Given the description of an element on the screen output the (x, y) to click on. 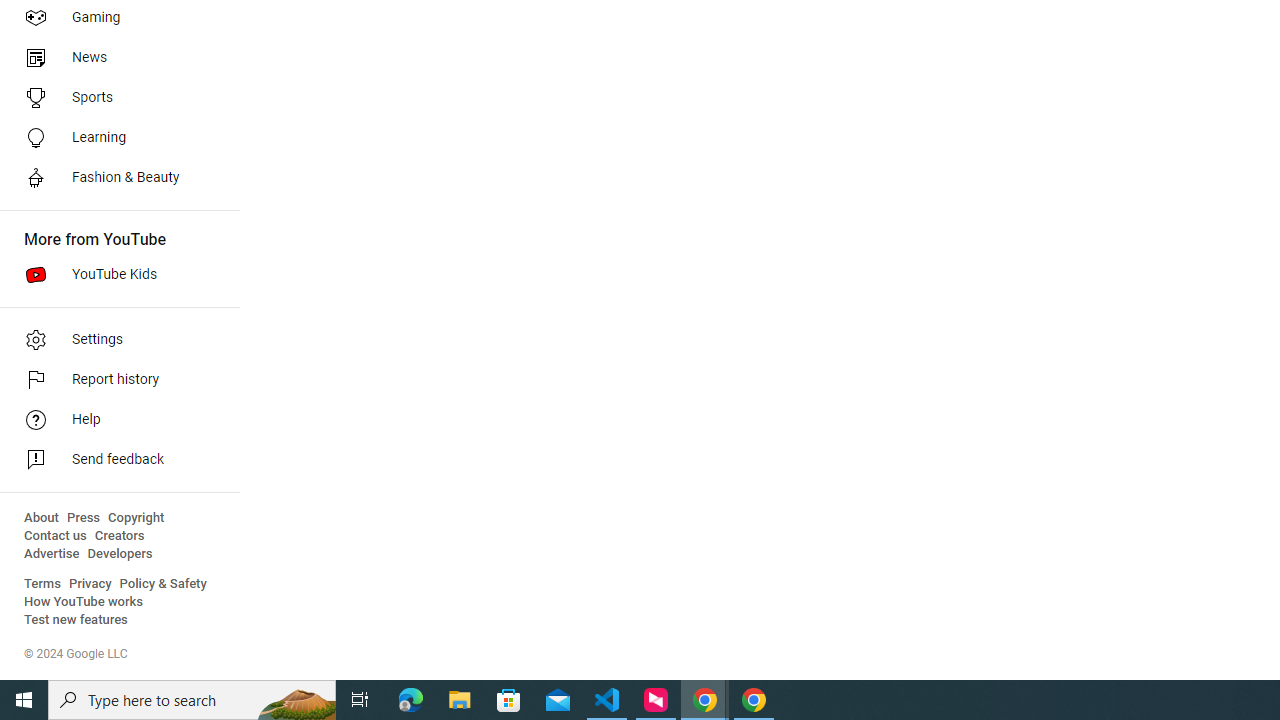
Press (83, 518)
Learning (113, 137)
Policy & Safety (163, 584)
Fashion & Beauty (113, 177)
YouTube Kids (113, 274)
